Given the description of an element on the screen output the (x, y) to click on. 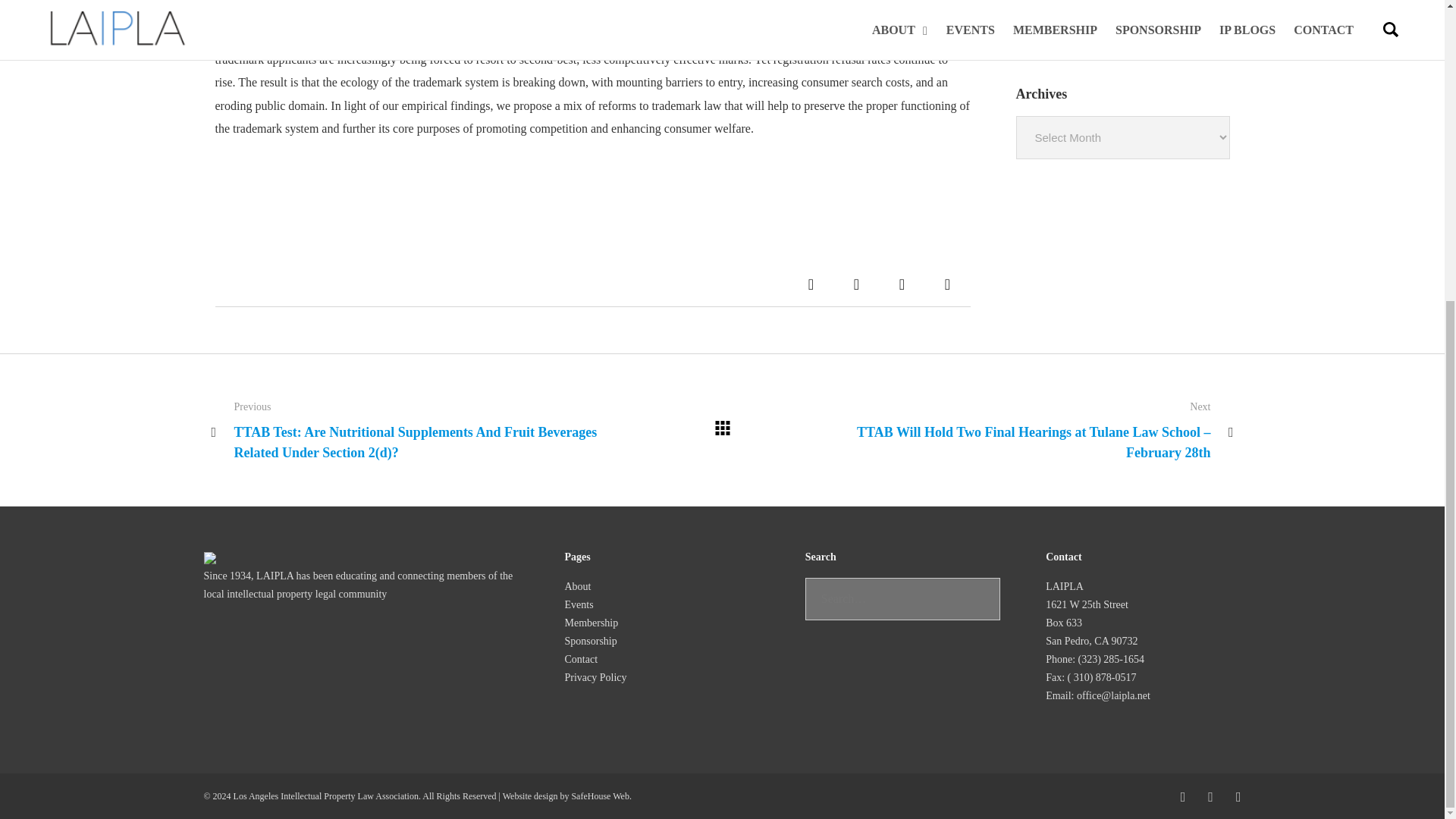
Website design for law firms and attorney associations (599, 796)
Share this. (901, 284)
Share this. (811, 284)
Tweet this. (856, 284)
Share this. (947, 284)
